Given the description of an element on the screen output the (x, y) to click on. 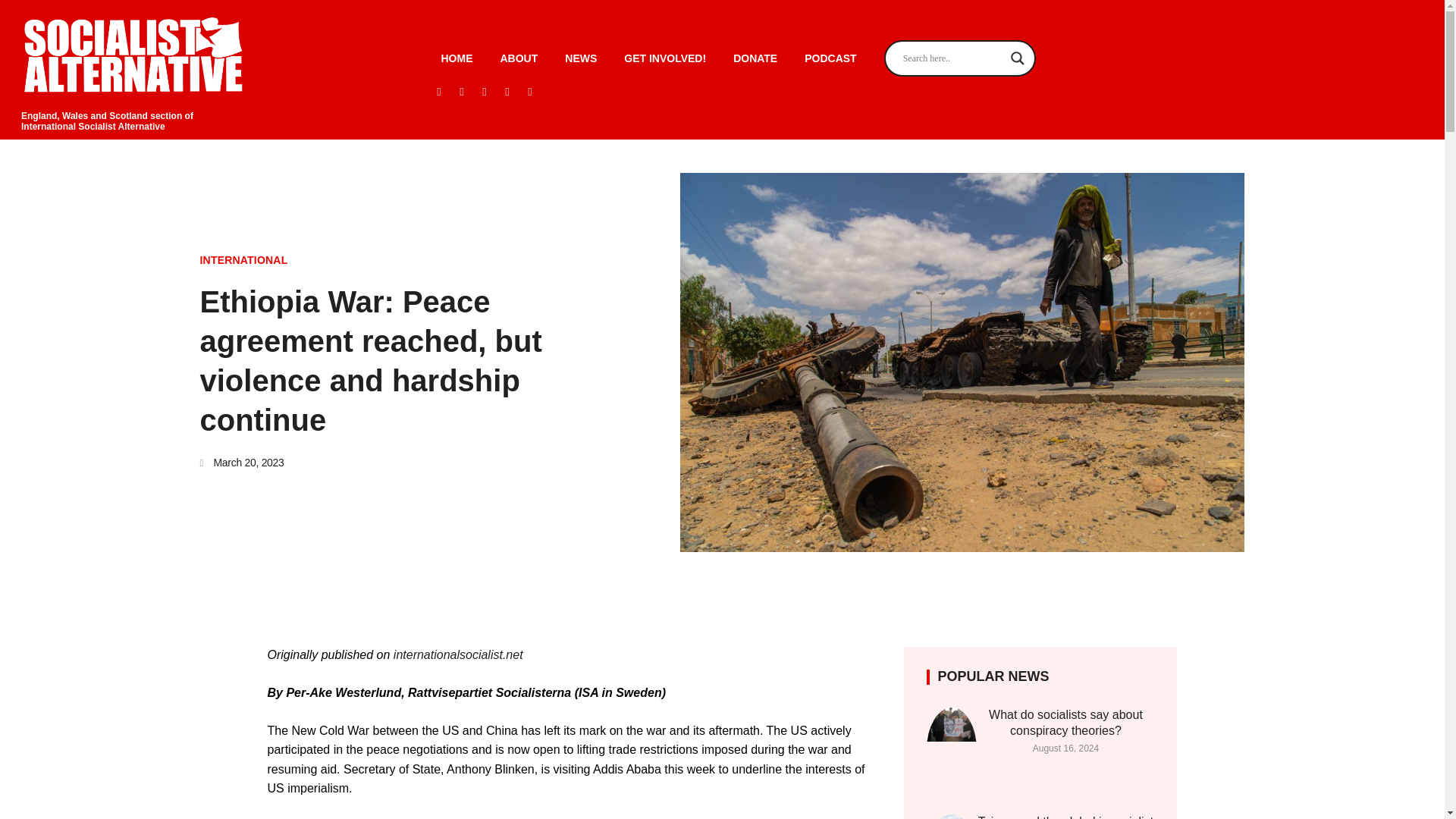
ABOUT (519, 58)
DONATE (754, 58)
GET INVOLVED! (664, 58)
PODCAST (829, 58)
International Socialist Alternative (93, 126)
